Given the description of an element on the screen output the (x, y) to click on. 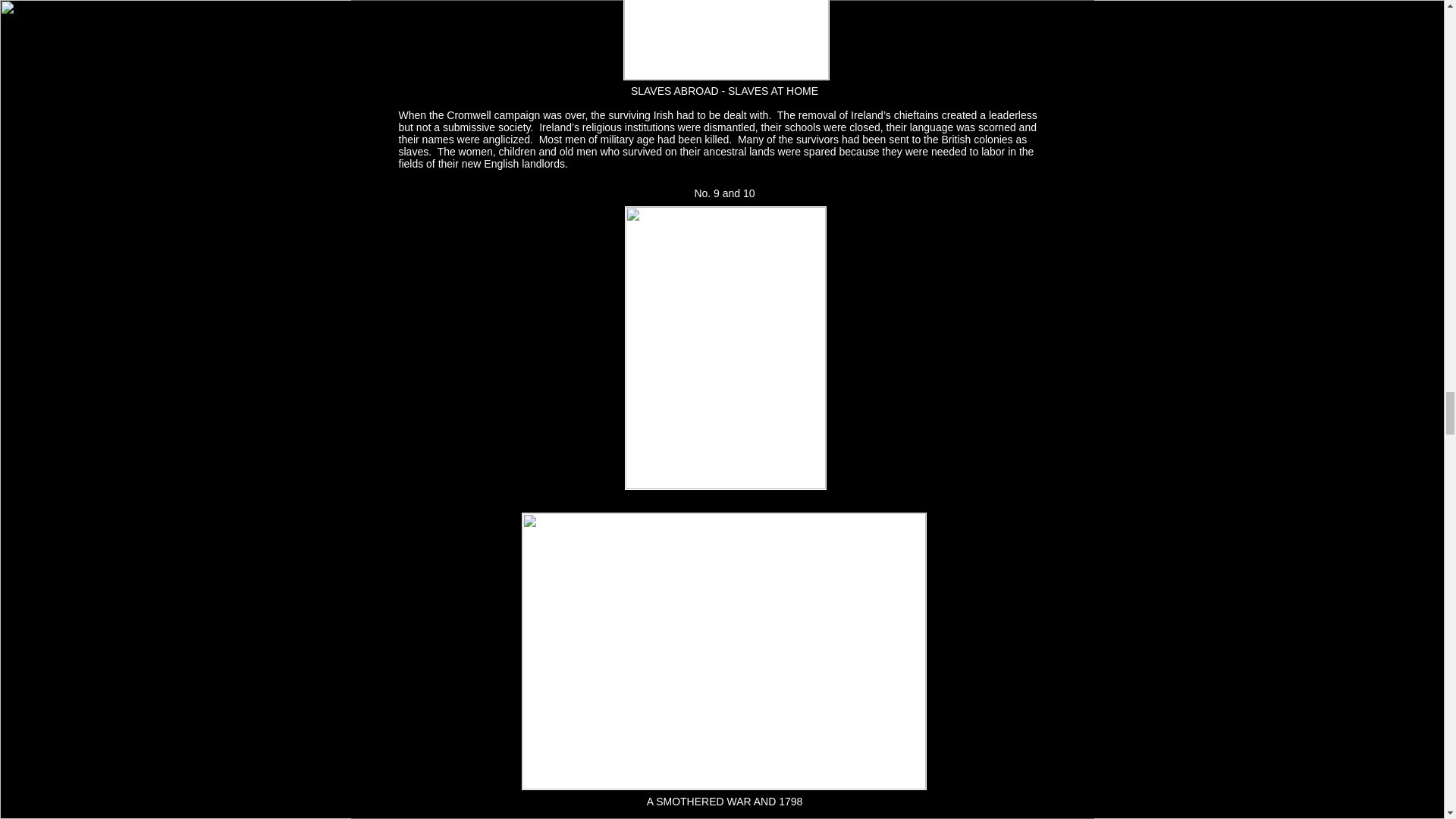
IMG-Chapter9K.jpg (723, 651)
IMG-Chapter9I.jpg (726, 40)
